Given the description of an element on the screen output the (x, y) to click on. 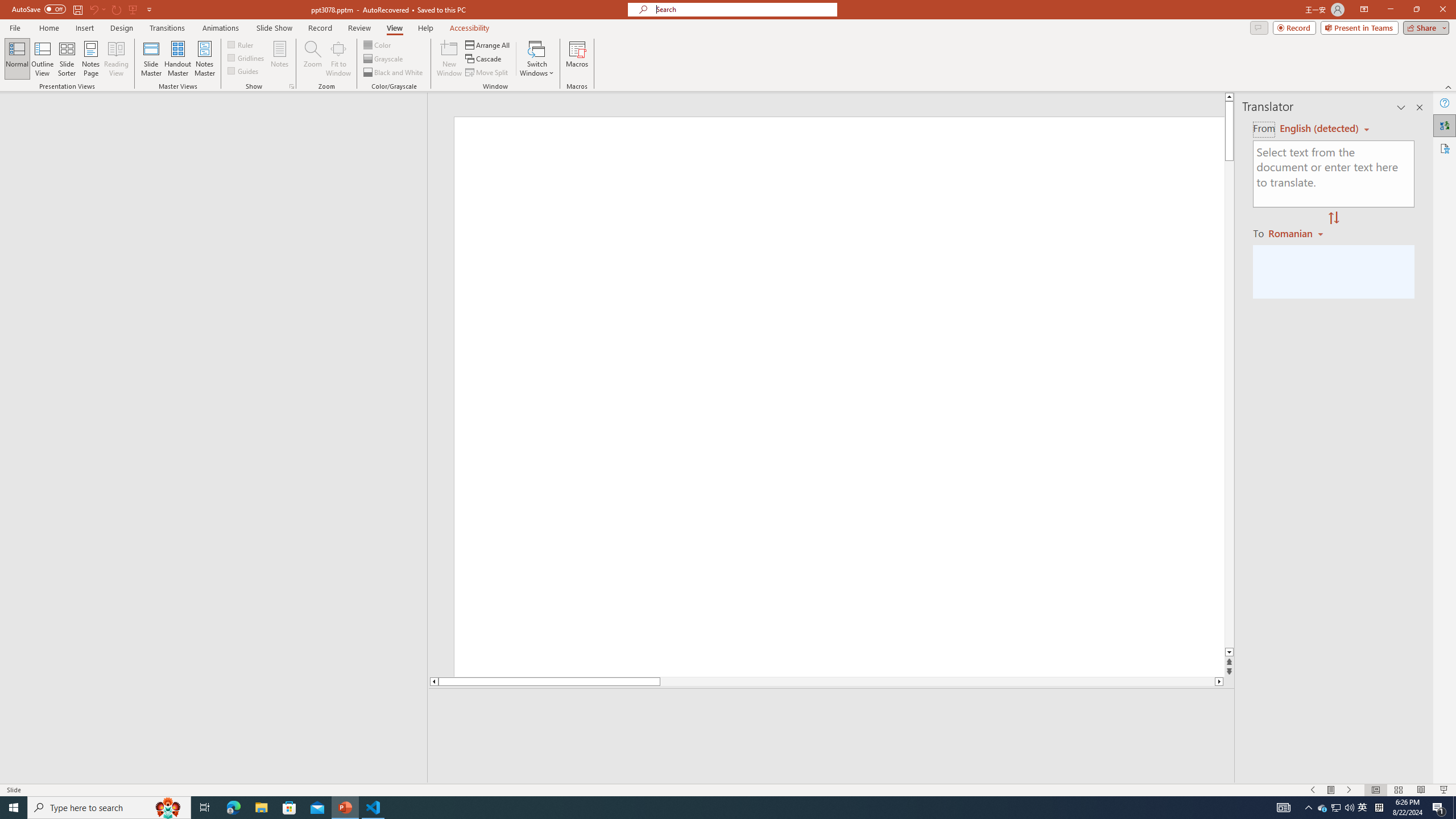
Notes (279, 58)
Notes Master (204, 58)
Slide Show Previous On (1313, 790)
Cascade (484, 58)
Color (377, 44)
Notes Page (90, 58)
